Given the description of an element on the screen output the (x, y) to click on. 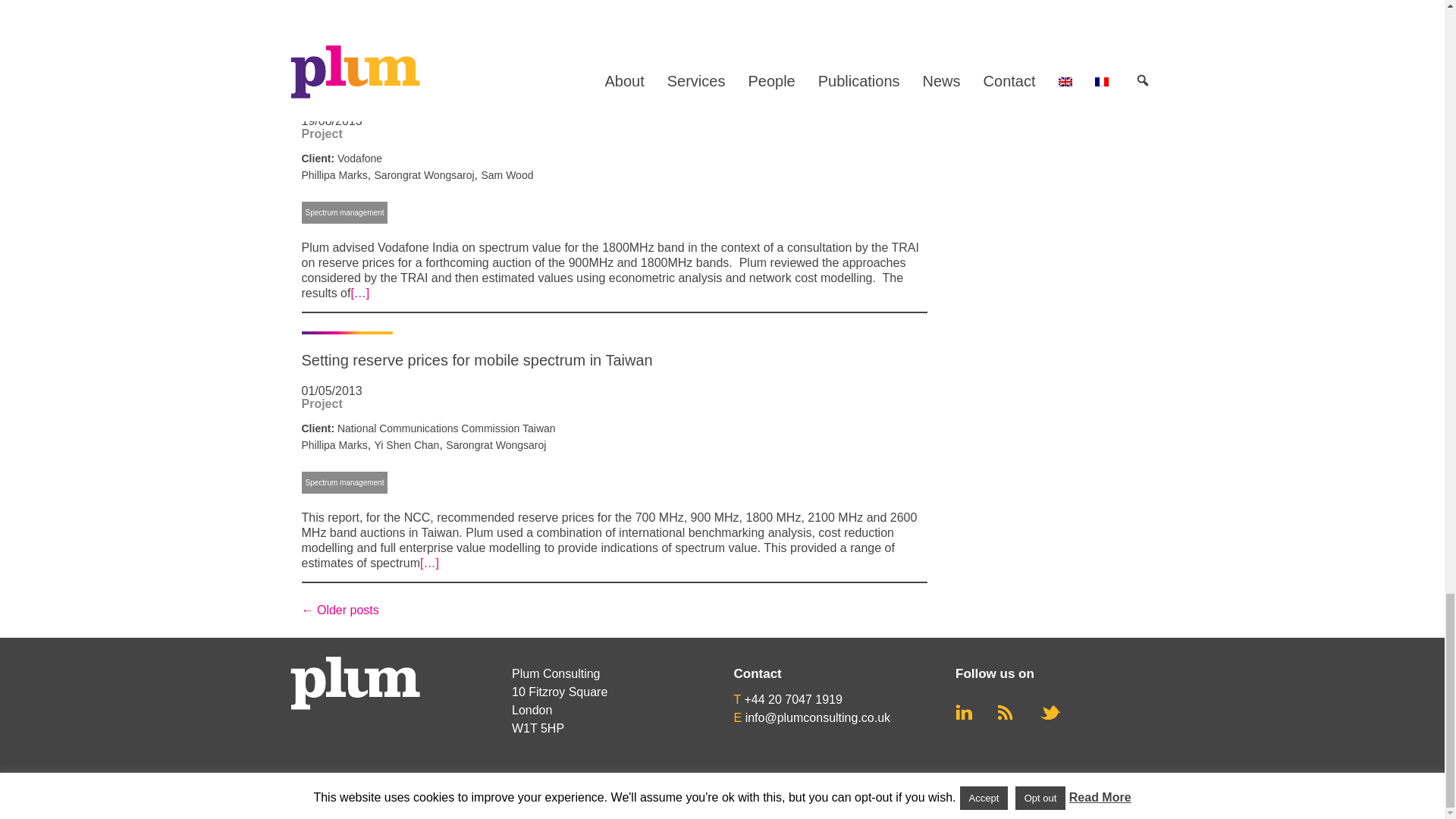
Follow Us on RSS (1005, 712)
Follow Us on LinkedIn (963, 712)
Follow Us on Twitter (1050, 712)
